Given the description of an element on the screen output the (x, y) to click on. 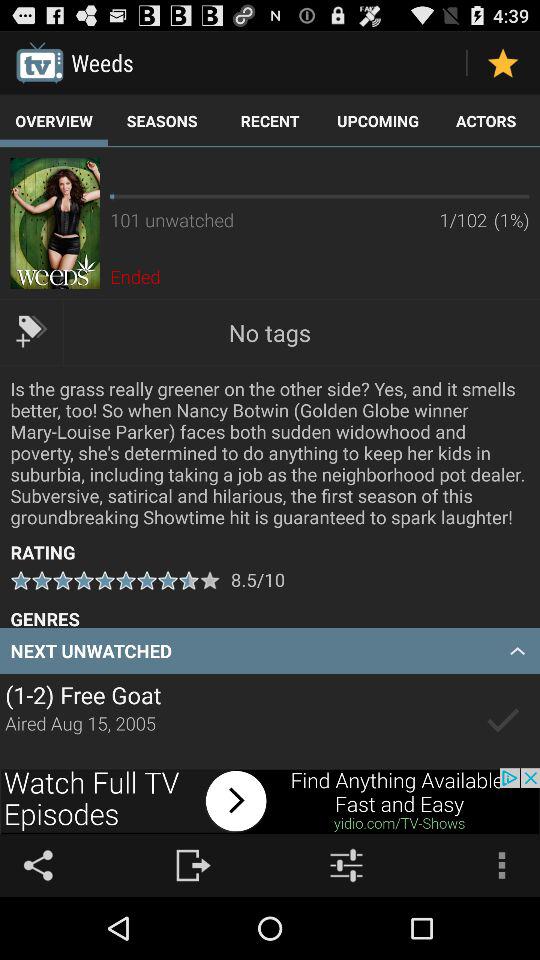
advertisement image (54, 223)
